Given the description of an element on the screen output the (x, y) to click on. 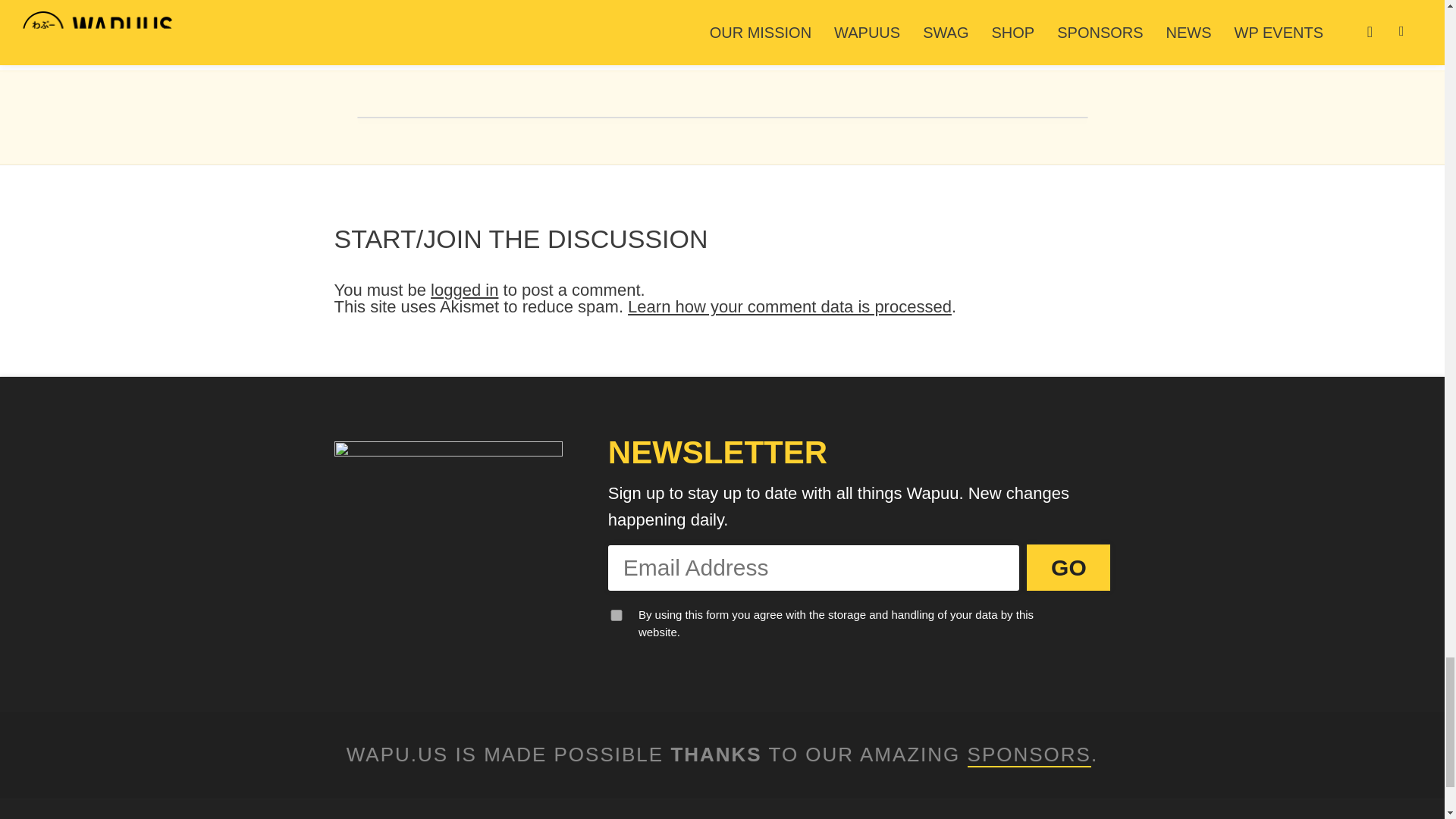
true (616, 614)
Sponsors (1029, 754)
Go (1067, 567)
